Given the description of an element on the screen output the (x, y) to click on. 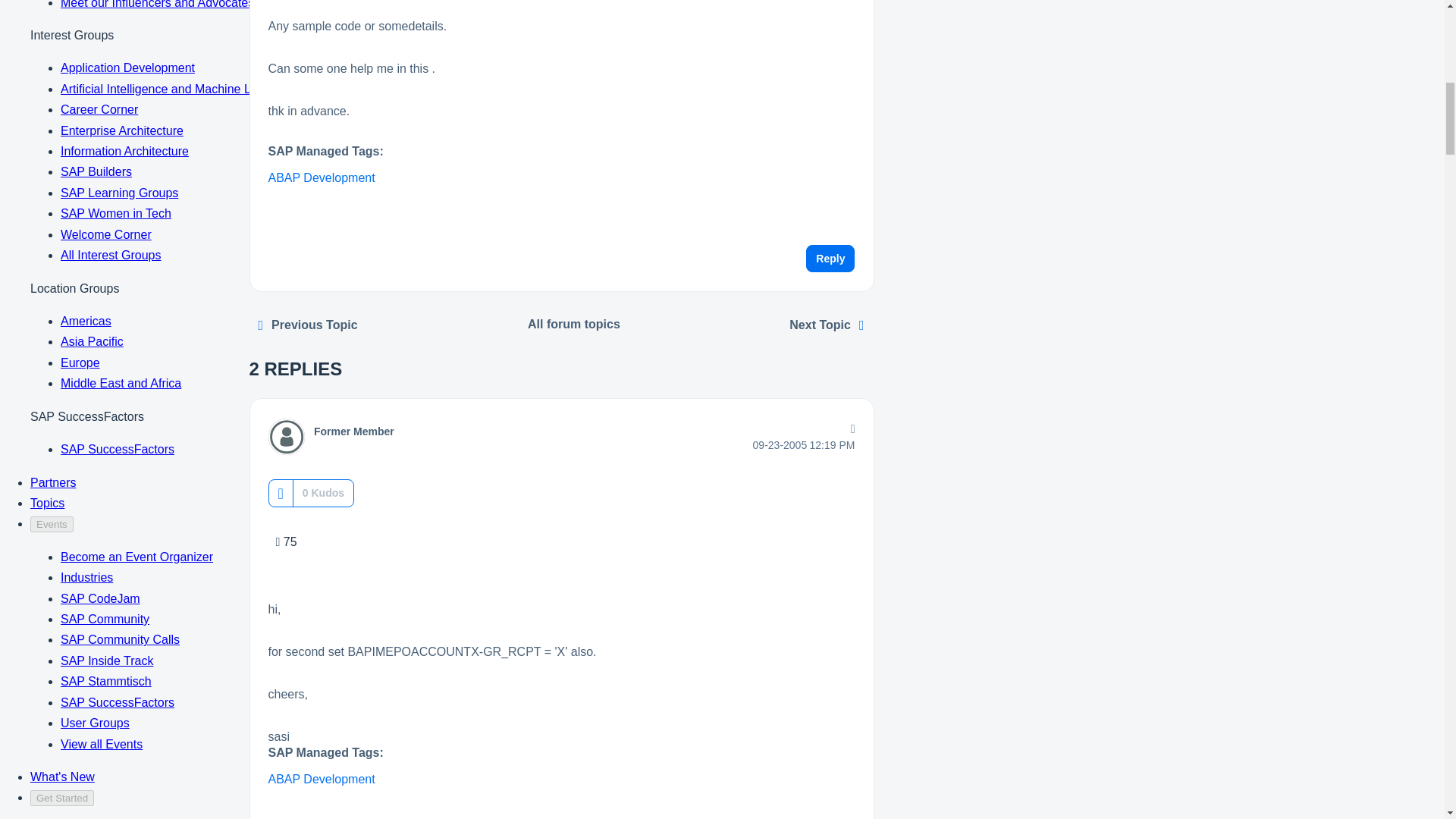
Next Topic (825, 325)
reg : modification in sap script driver prog (308, 325)
ABAP Development (321, 177)
Application Development Discussions (574, 324)
All forum topics (574, 324)
ABAP Development (321, 779)
Previous Topic (308, 325)
Reply (830, 257)
RTTS dynamic DB table reference, how? (825, 325)
